Given the description of an element on the screen output the (x, y) to click on. 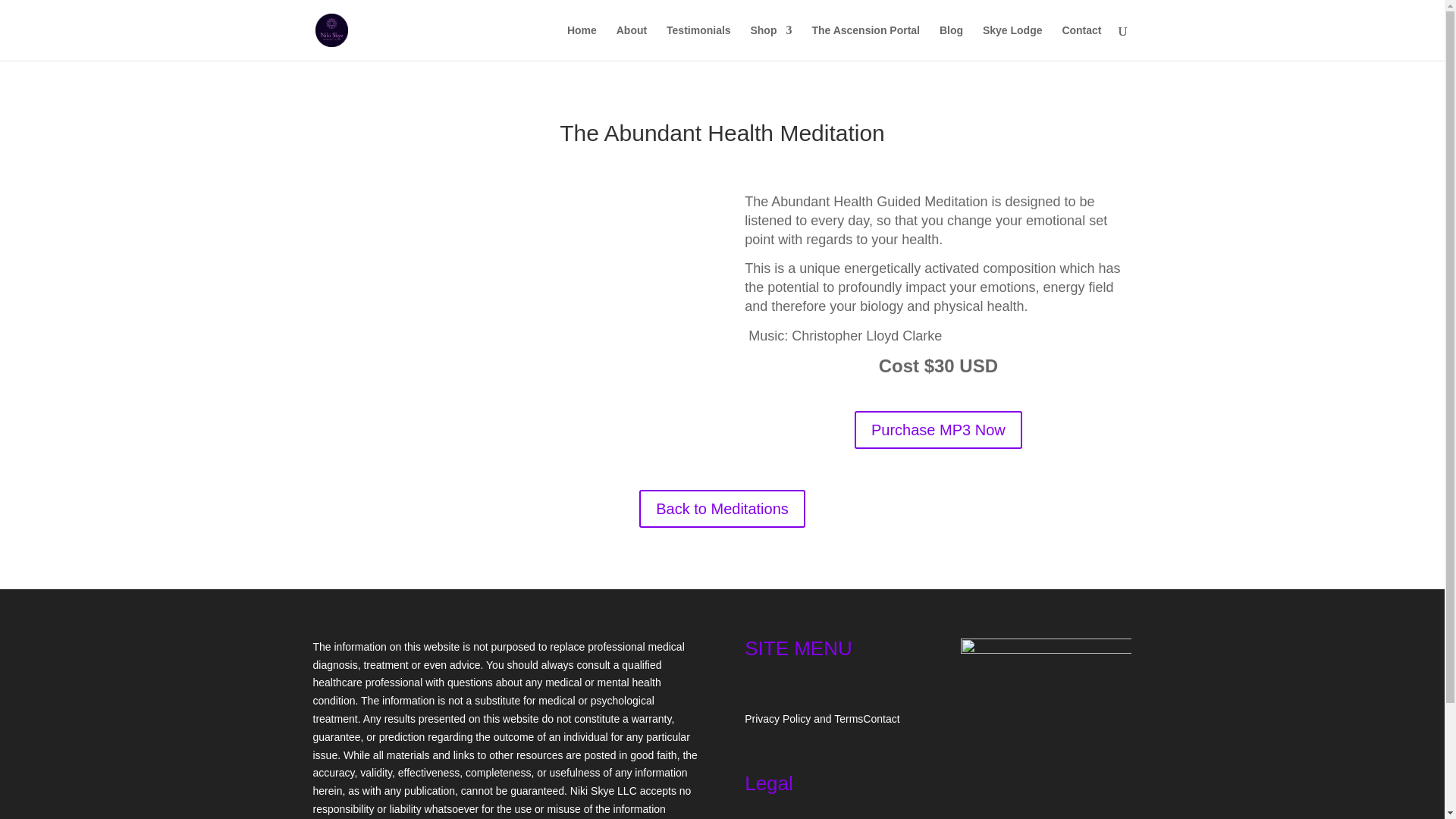
Back to Meditations (722, 508)
Shop (770, 42)
Contact (1080, 42)
The Ascension Portal (865, 42)
Testimonials (698, 42)
Privacy Policy and Terms (803, 718)
Purchase MP3 Now (938, 429)
Contact (881, 718)
Skye Lodge (1012, 42)
Abundant Health Meditation (505, 302)
